Given the description of an element on the screen output the (x, y) to click on. 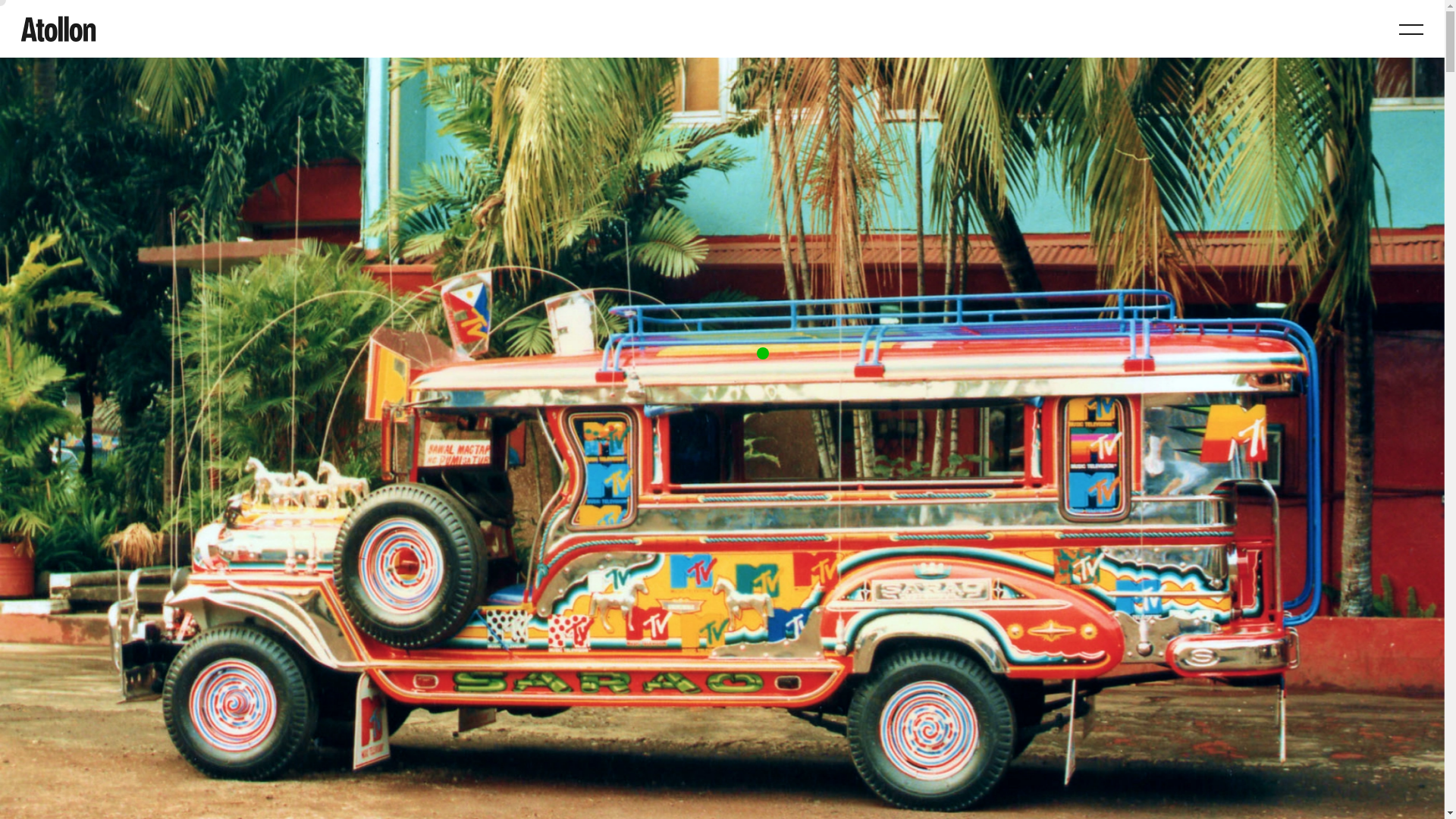
subscribe (406, 278)
Collingwood (448, 160)
Instagram (445, 219)
Atollon (58, 28)
LinkedIn (120, 278)
